Given the description of an element on the screen output the (x, y) to click on. 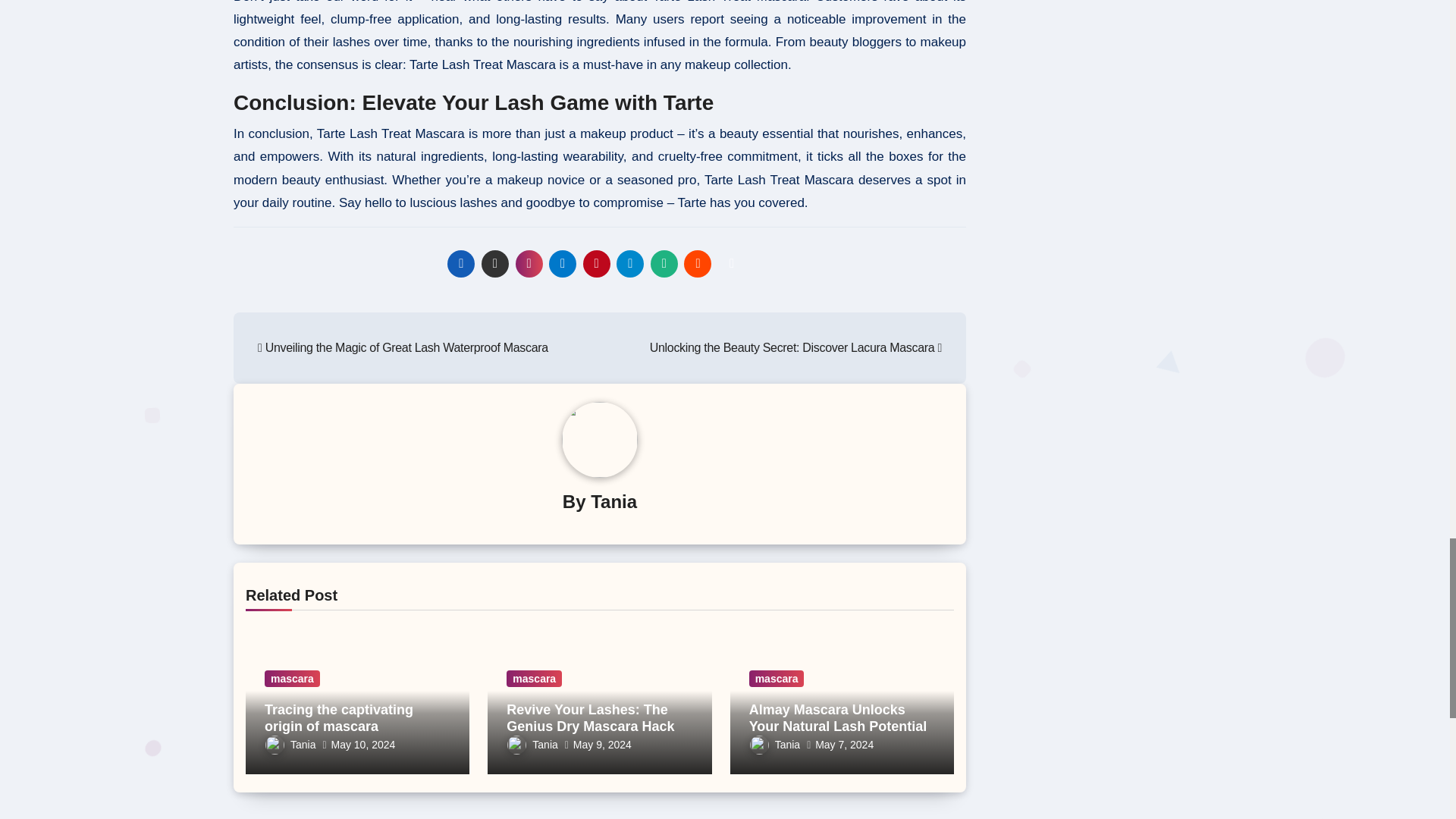
Tracing the captivating origin of mascara (338, 717)
Unveiling the Magic of Great Lash Waterproof Mascara (402, 347)
mascara (292, 678)
Unlocking the Beauty Secret: Discover Lacura Mascara (795, 347)
Tania (614, 501)
Permalink to: Tracing the captivating origin of mascara (338, 717)
